Given the description of an element on the screen output the (x, y) to click on. 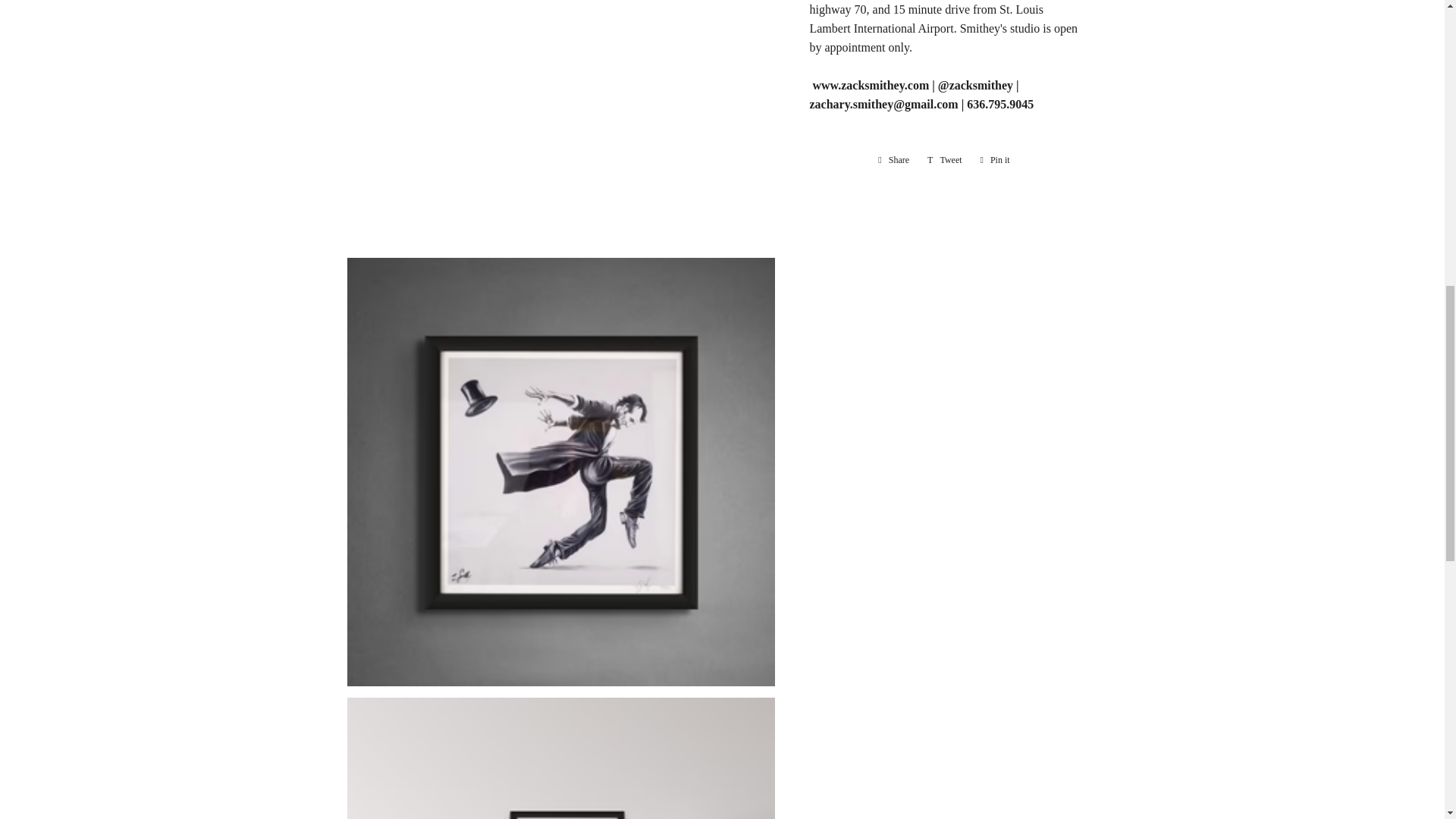
Pin on Pinterest (994, 159)
Tweet on Twitter (994, 159)
Share on Facebook (944, 159)
